Given the description of an element on the screen output the (x, y) to click on. 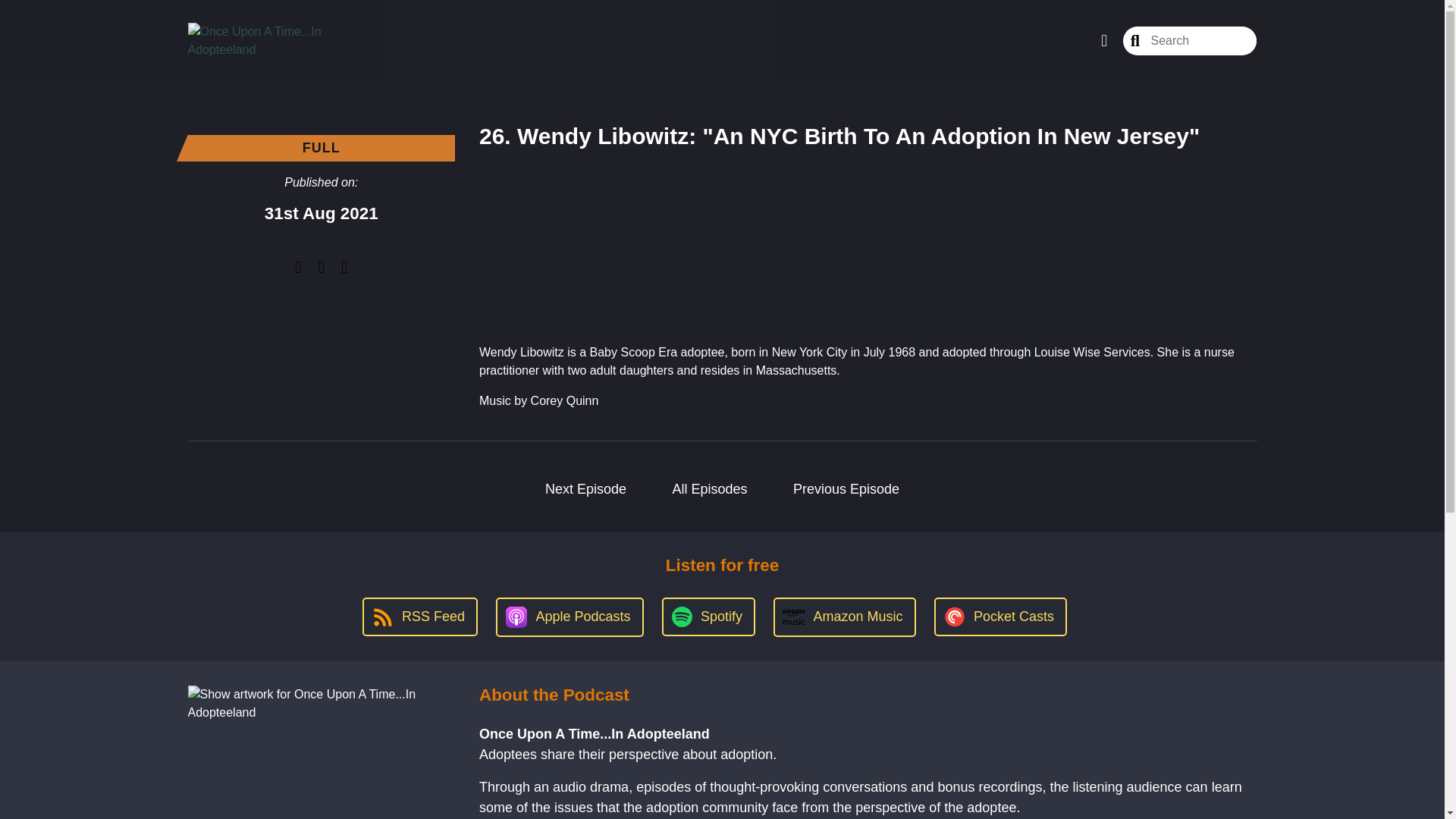
Spotify (708, 616)
Apple Podcasts (569, 617)
Next Episode (585, 488)
Previous Episode (845, 488)
RSS Feed (419, 616)
Amazon Music (844, 617)
Pocket Casts (1000, 616)
All Episodes (709, 488)
